Given the description of an element on the screen output the (x, y) to click on. 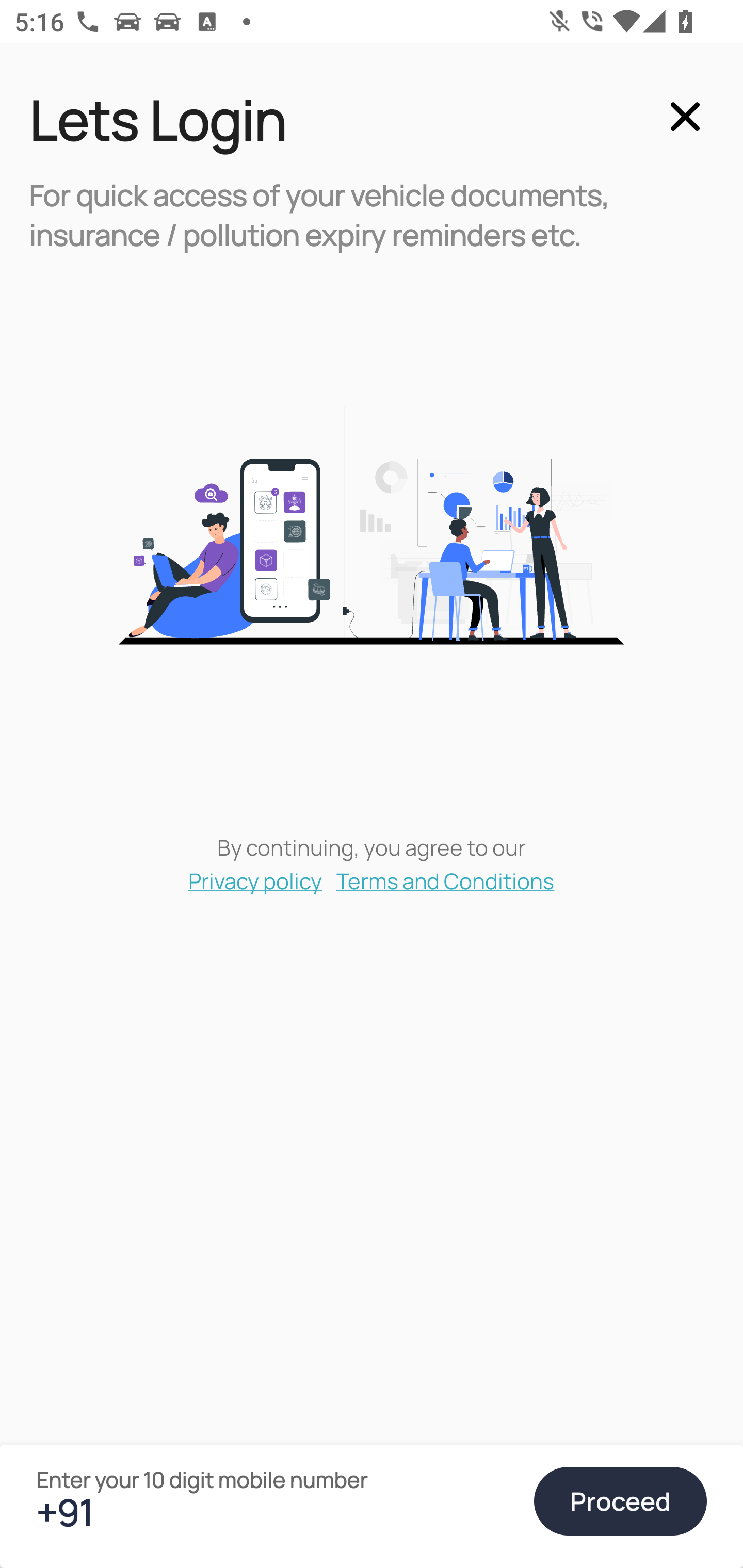
Privacy policy (254, 880)
Terms and Conditions (445, 880)
Proceed (620, 1501)
Enter your 10 digit mobile number (275, 1512)
